Given the description of an element on the screen output the (x, y) to click on. 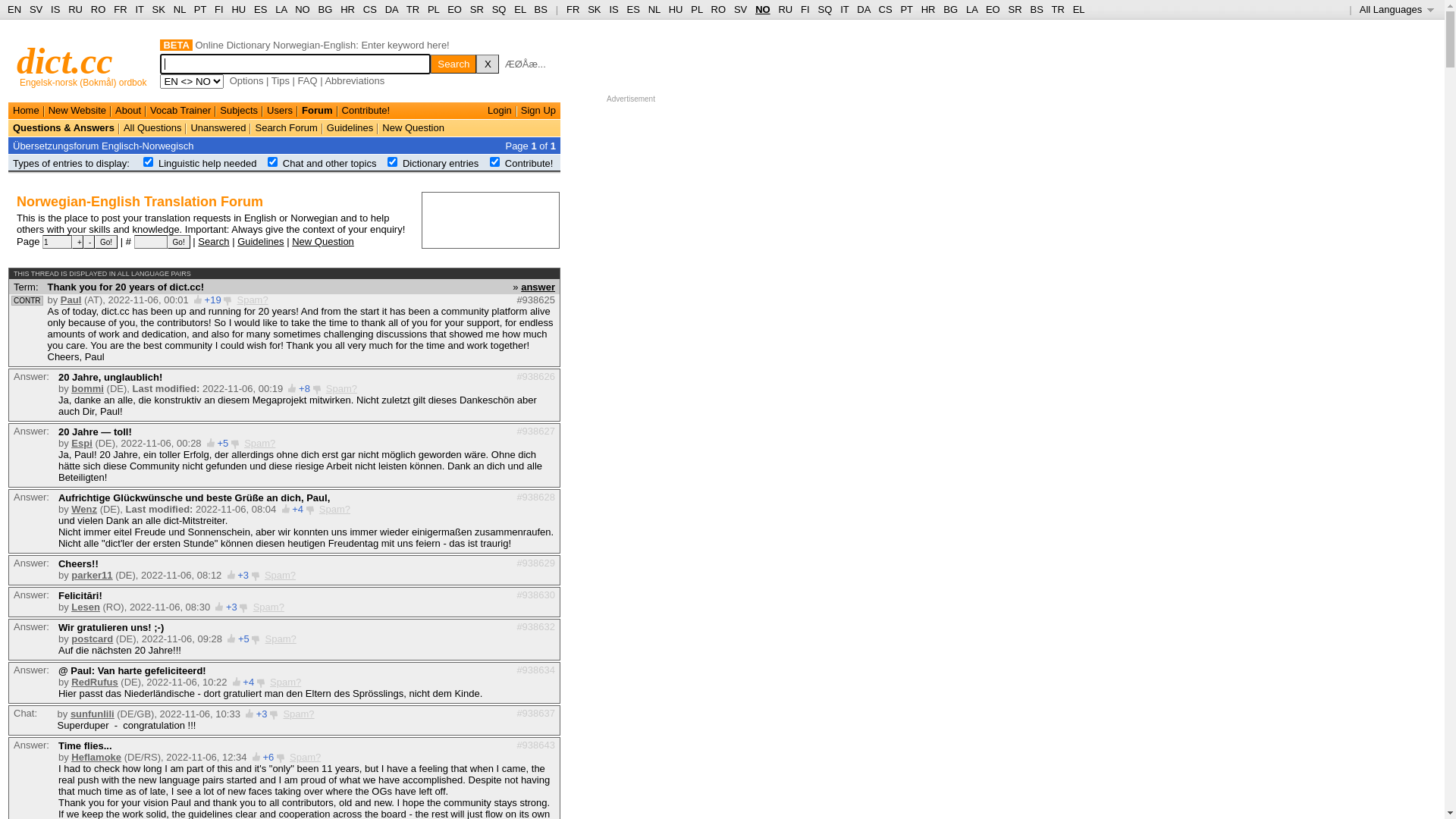
BG Element type: text (950, 9)
NL Element type: text (654, 9)
X Element type: text (487, 63)
+3 Element type: text (242, 574)
EO Element type: text (454, 9)
IS Element type: text (54, 9)
BS Element type: text (540, 9)
#938643 Element type: text (535, 743)
CONTR Element type: text (26, 300)
#938629 Element type: text (535, 561)
#938637 Element type: text (535, 712)
PL Element type: text (696, 9)
+5 Element type: text (222, 442)
Abbreviations Element type: text (354, 80)
SK Element type: text (158, 9)
DA Element type: text (391, 9)
dict.cc Element type: text (64, 60)
Search Element type: text (213, 240)
Unanswered Element type: text (217, 127)
Spam? Element type: text (279, 574)
Spam? Element type: text (251, 299)
EL Element type: text (519, 9)
SV Element type: text (740, 9)
Contribute! Element type: text (529, 163)
Spam? Element type: text (341, 388)
+19 Element type: text (212, 299)
RedRufus Element type: text (94, 681)
Contribute! Element type: text (366, 110)
NL Element type: text (179, 9)
Dictionary entries Element type: text (440, 163)
EN Element type: text (14, 9)
postcard Element type: text (91, 638)
ES Element type: text (260, 9)
Search Forum Element type: text (285, 127)
Users Element type: text (279, 110)
Spam? Element type: text (334, 508)
Search Element type: text (453, 63)
RO Element type: text (98, 9)
#938630 Element type: text (535, 593)
Options Element type: text (246, 80)
+3 Element type: text (231, 606)
PL Element type: text (433, 9)
Forum Element type: text (316, 110)
Tips Element type: text (280, 80)
Guidelines Element type: text (260, 240)
Spam? Element type: text (259, 442)
#938634 Element type: text (535, 669)
IS Element type: text (613, 9)
Questions & Answers Element type: text (63, 127)
LA Element type: text (971, 9)
Norwegian-English Translation Forum Element type: text (139, 201)
HR Element type: text (347, 9)
Spam? Element type: text (304, 756)
+3 Element type: text (261, 713)
Sign Up Element type: text (537, 110)
Go! Element type: text (178, 241)
Spam? Element type: text (280, 638)
New Website Element type: text (77, 110)
Spam? Element type: text (297, 713)
About Element type: text (128, 110)
Go! Element type: text (105, 241)
Linguistic help needed Element type: text (207, 163)
PT Element type: text (200, 9)
FI Element type: text (804, 9)
New Question Element type: text (413, 127)
LA Element type: text (280, 9)
+8 Element type: text (304, 388)
RO Element type: text (718, 9)
BG Element type: text (325, 9)
+6 Element type: text (267, 756)
Subjects Element type: text (238, 110)
#938625 Element type: text (535, 299)
PT Element type: text (906, 9)
SK Element type: text (593, 9)
DA Element type: text (862, 9)
NO Element type: text (302, 9)
CS Element type: text (884, 9)
Lesen Element type: text (85, 606)
on Element type: text (148, 161)
#938626 Element type: text (535, 375)
New Question Element type: text (322, 240)
FR Element type: text (119, 9)
IT Element type: text (844, 9)
NO Element type: text (762, 9)
bommi Element type: text (87, 388)
ES Element type: text (633, 9)
Paul Element type: text (70, 299)
#938627 Element type: text (535, 430)
on Element type: text (272, 161)
HU Element type: text (675, 9)
#938632 Element type: text (535, 625)
Wenz Element type: text (84, 508)
EO Element type: text (992, 9)
Spam? Element type: text (268, 606)
+4 Element type: text (297, 508)
on Element type: text (392, 161)
answer Element type: text (537, 285)
SQ Element type: text (824, 9)
Spam? Element type: text (285, 681)
HU Element type: text (238, 9)
RU Element type: text (75, 9)
Login Element type: text (499, 110)
#938628 Element type: text (535, 496)
SV Element type: text (35, 9)
BS Element type: text (1035, 9)
HR Element type: text (928, 9)
+4 Element type: text (248, 681)
Heflamoke Element type: text (96, 756)
Home Element type: text (25, 110)
TR Element type: text (1057, 9)
RU Element type: text (785, 9)
Espi Element type: text (81, 442)
All Languages  Element type: text (1396, 9)
on Element type: text (494, 161)
+5 Element type: text (243, 638)
TR Element type: text (412, 9)
FR Element type: text (572, 9)
Guidelines Element type: text (349, 127)
sunfunlili Element type: text (92, 713)
FAQ Element type: text (307, 80)
Vocab Trainer Element type: text (180, 110)
SQ Element type: text (499, 9)
SR Element type: text (1015, 9)
Chat and other topics Element type: text (329, 163)
CS Element type: text (369, 9)
IT Element type: text (138, 9)
FI Element type: text (218, 9)
SR Element type: text (476, 9)
parker11 Element type: text (91, 574)
EL Element type: text (1079, 9)
All Questions Element type: text (152, 127)
